Given the description of an element on the screen output the (x, y) to click on. 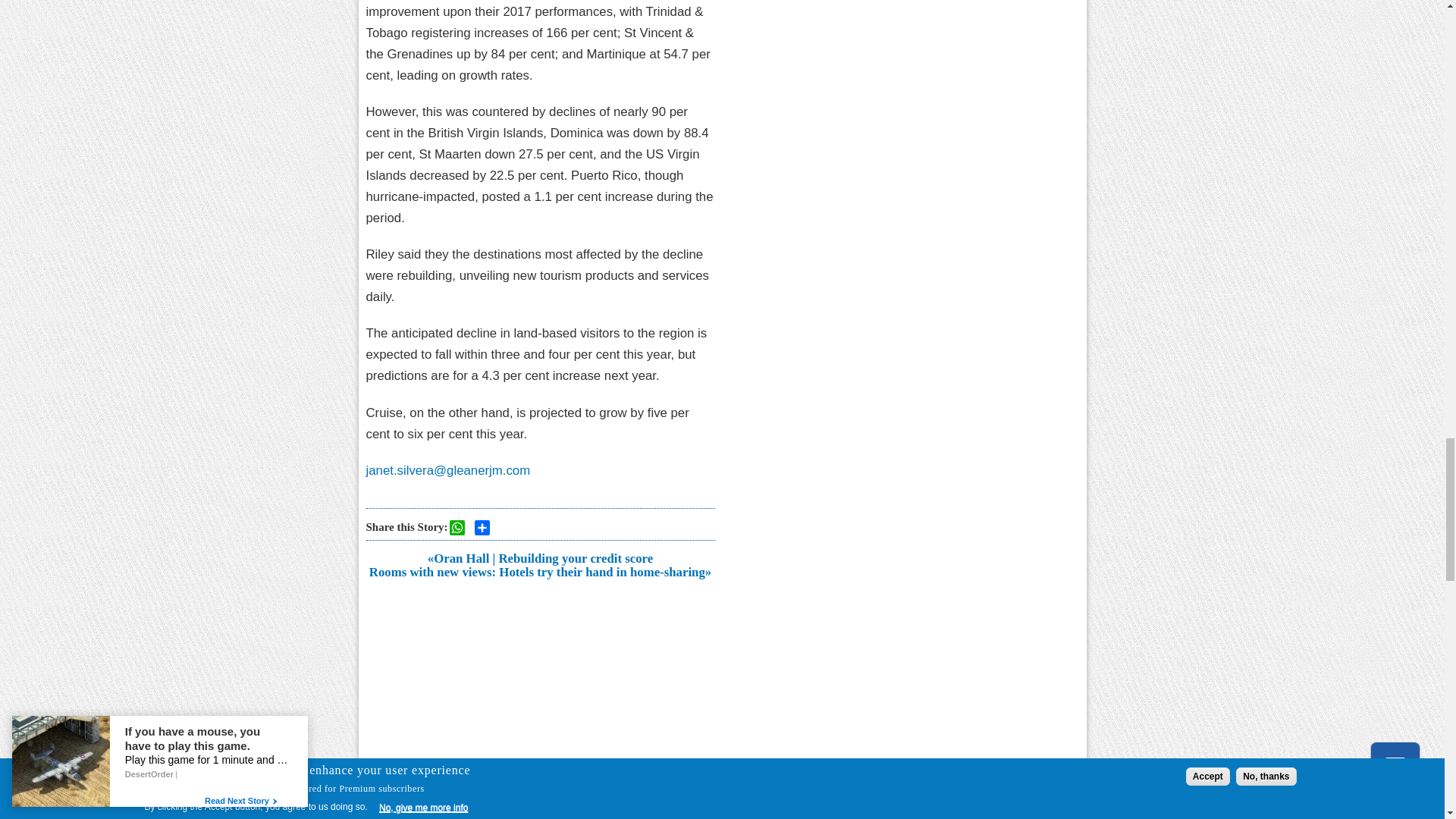
Advertisement (539, 694)
